Given the description of an element on the screen output the (x, y) to click on. 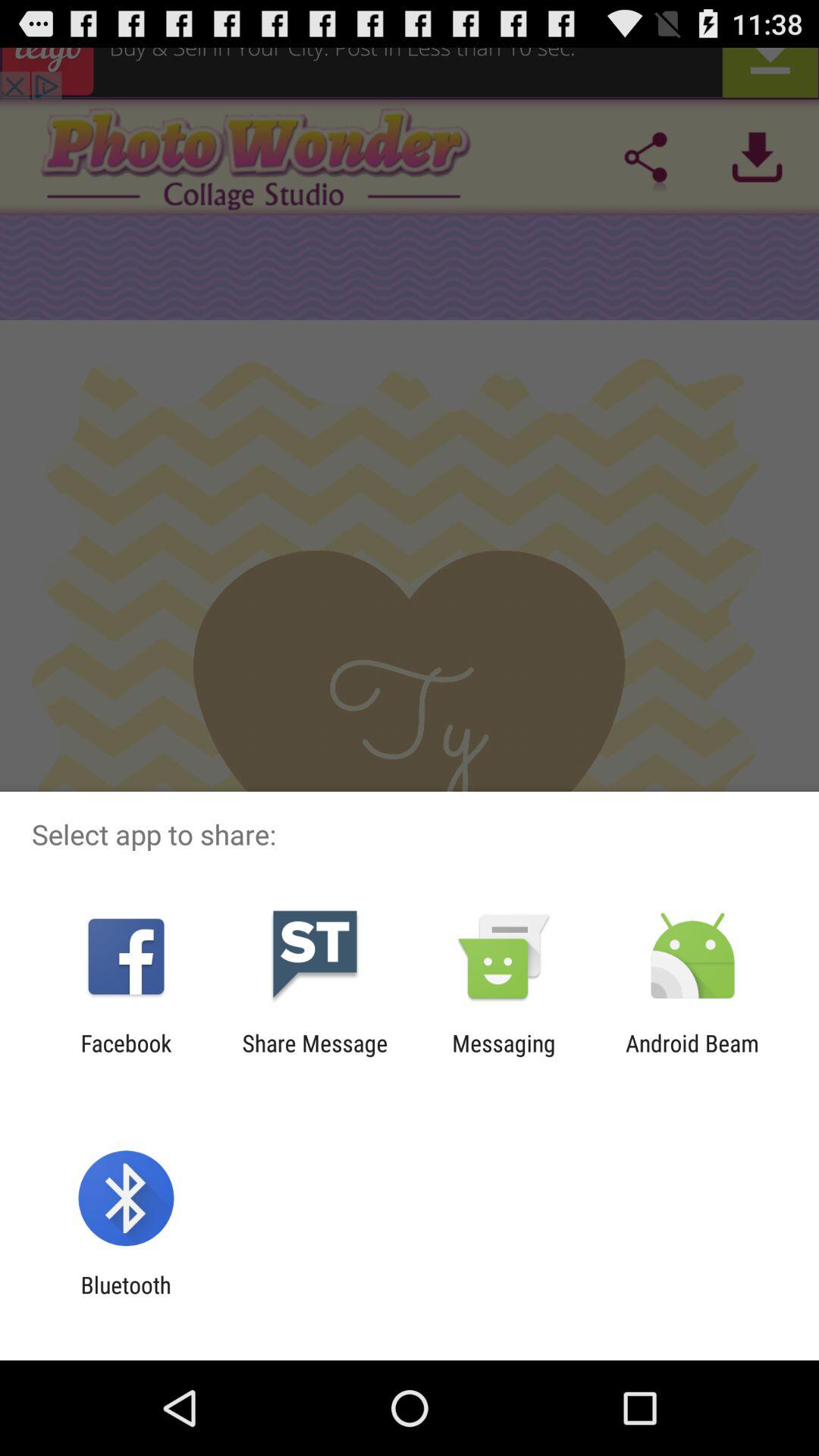
tap the messaging item (503, 1056)
